Given the description of an element on the screen output the (x, y) to click on. 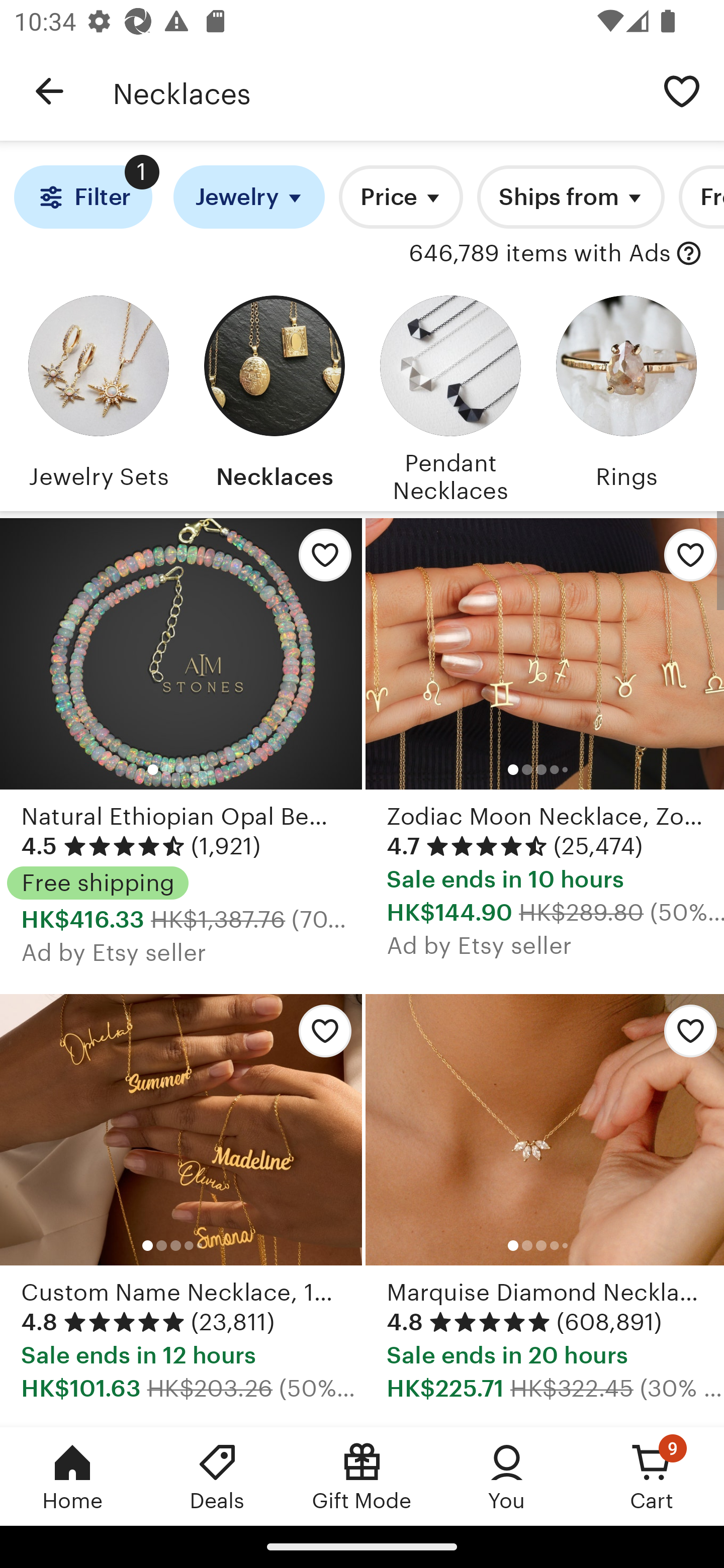
Navigate up (49, 91)
Save search (681, 90)
Necklaces (375, 91)
Filter (82, 197)
Jewelry (249, 197)
Price (400, 197)
Ships from (570, 197)
646,789 items with Ads (540, 253)
with Ads (688, 253)
Jewelry Sets (97, 395)
Necklaces (273, 395)
Pendant Necklaces (449, 395)
Rings (625, 395)
Deals (216, 1475)
Gift Mode (361, 1475)
You (506, 1475)
Cart, 9 new notifications Cart (651, 1475)
